Given the description of an element on the screen output the (x, y) to click on. 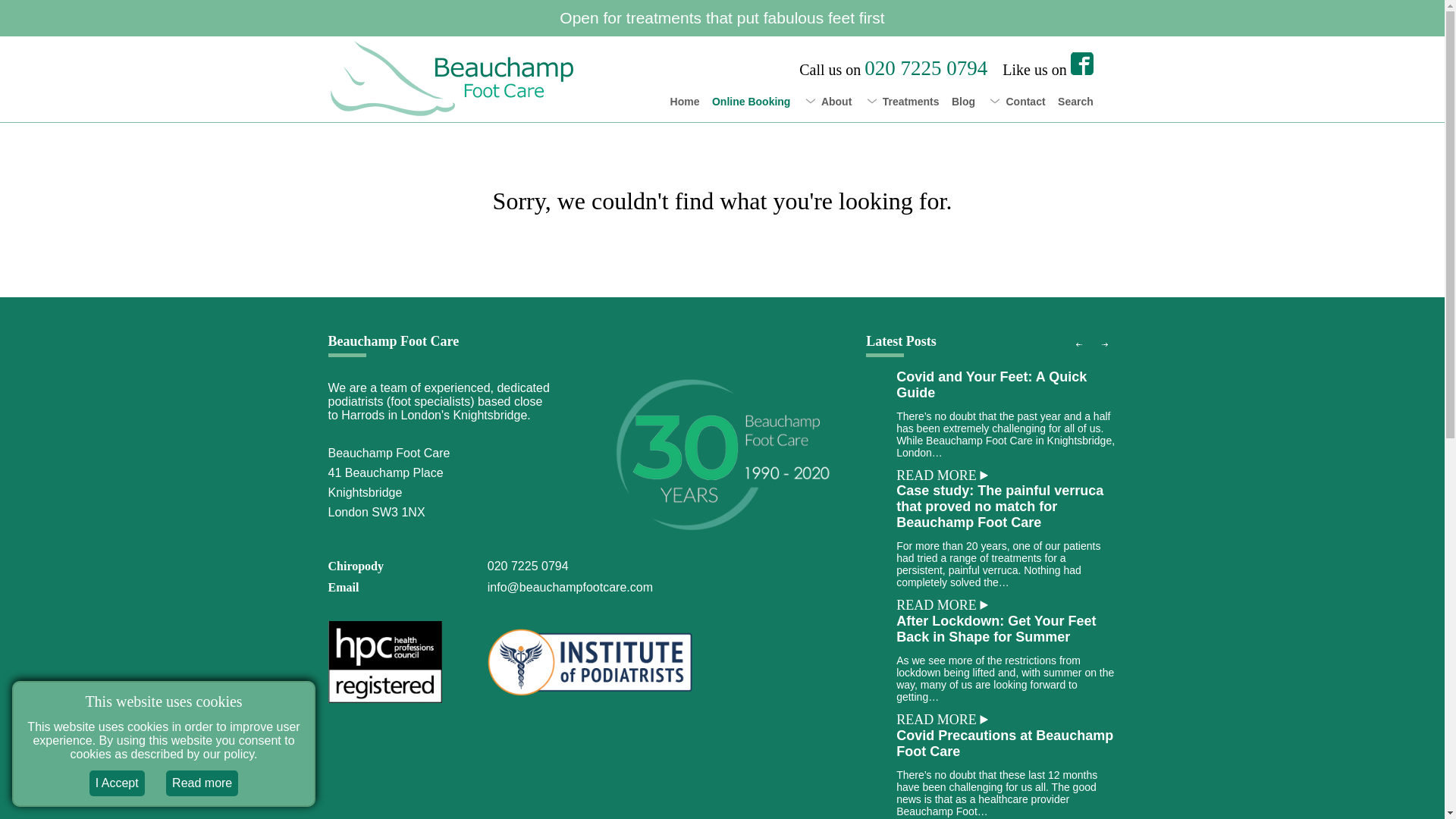
Home (684, 101)
After Lockdown: Get Your Feet Back in Shape for Summer (996, 628)
View Facebook Profile (1081, 63)
About (836, 101)
Online Booking (750, 101)
Covid and Your Feet: A Quick Guide (991, 384)
020 7225 0794 (528, 565)
Blog (963, 101)
READ MORE (936, 604)
